Given the description of an element on the screen output the (x, y) to click on. 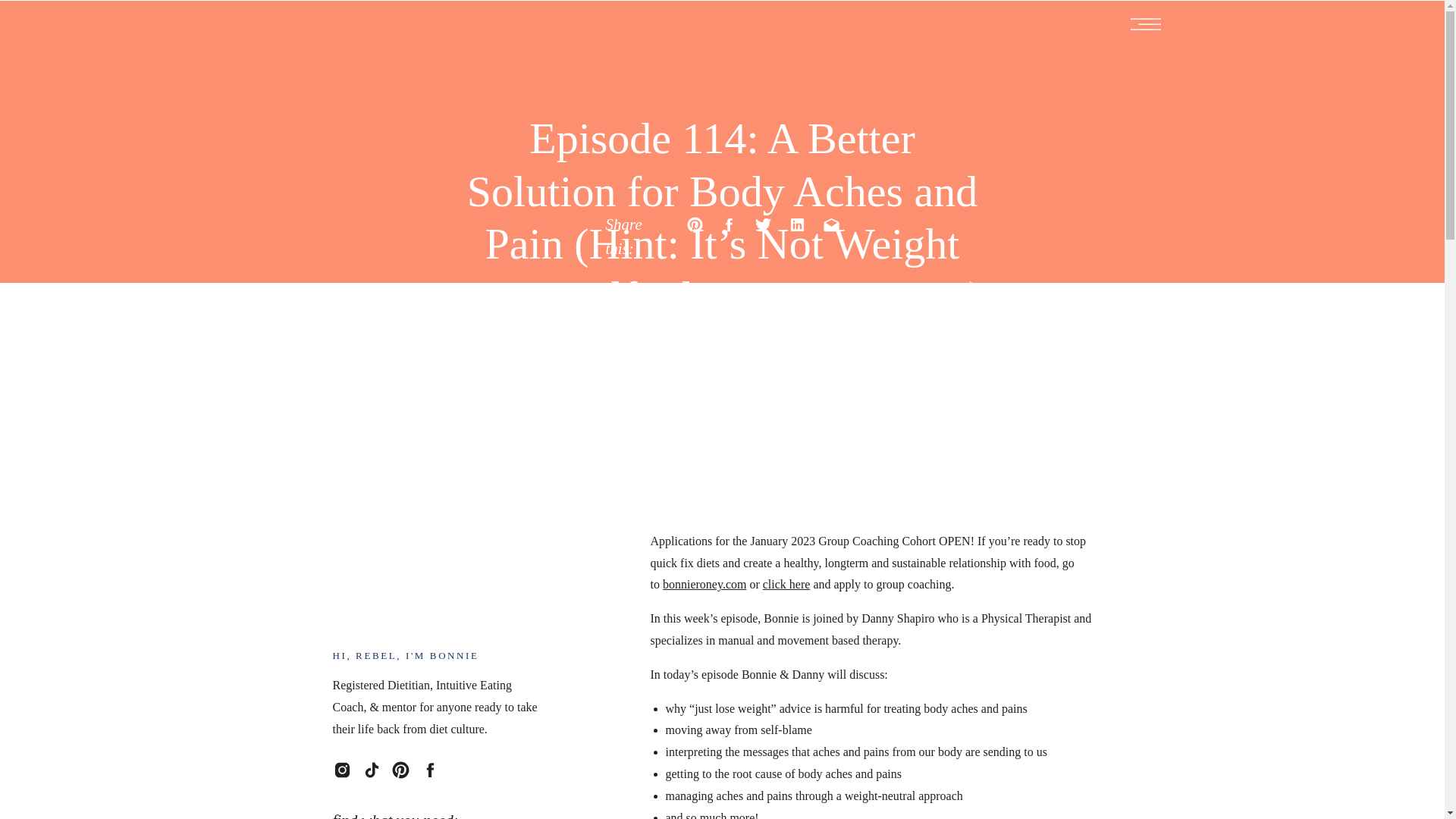
bonnieroney.com (703, 584)
Embed Player (881, 438)
click here (786, 584)
